Given the description of an element on the screen output the (x, y) to click on. 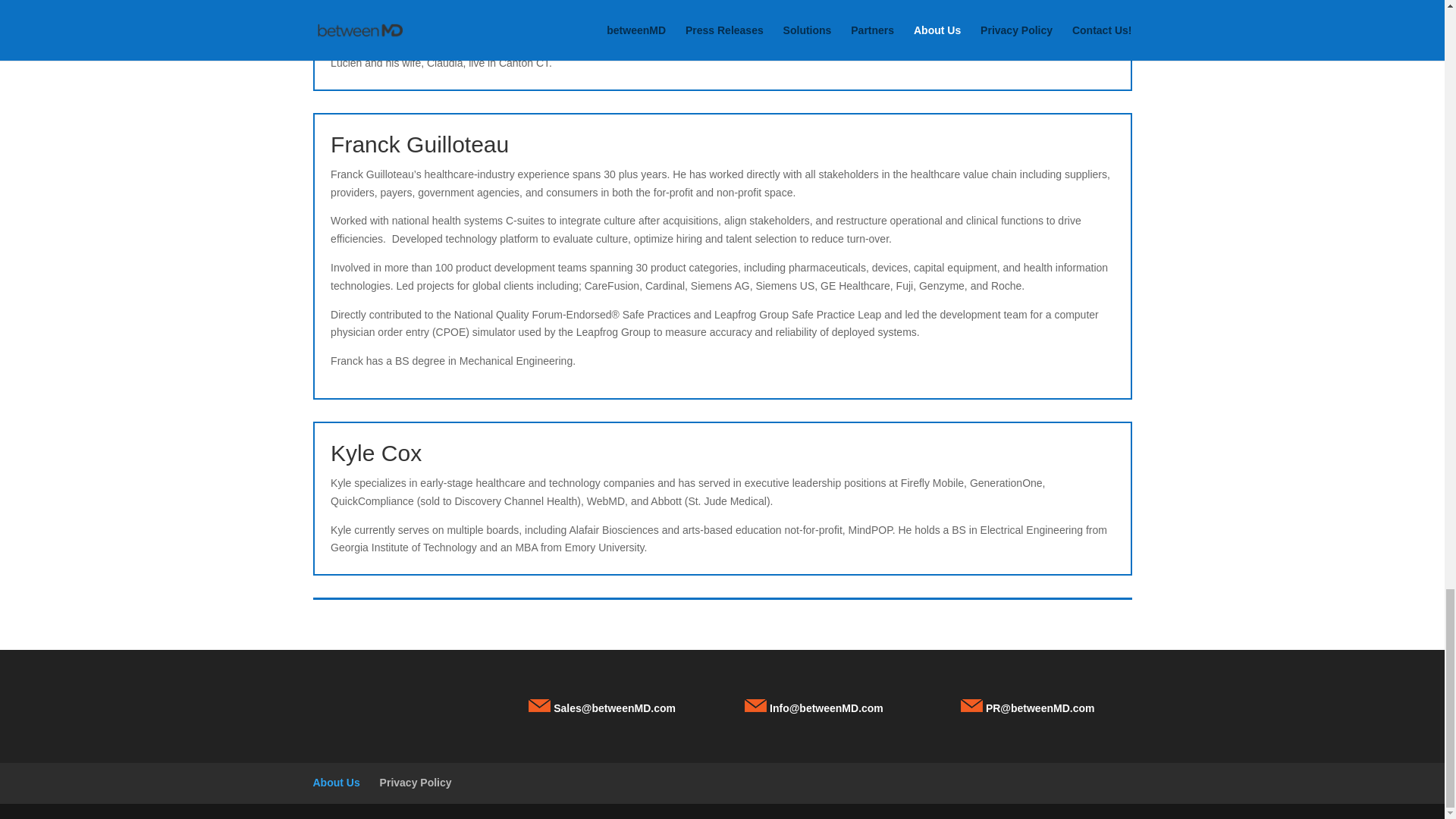
About Us (336, 782)
Privacy Policy (415, 782)
